Given the description of an element on the screen output the (x, y) to click on. 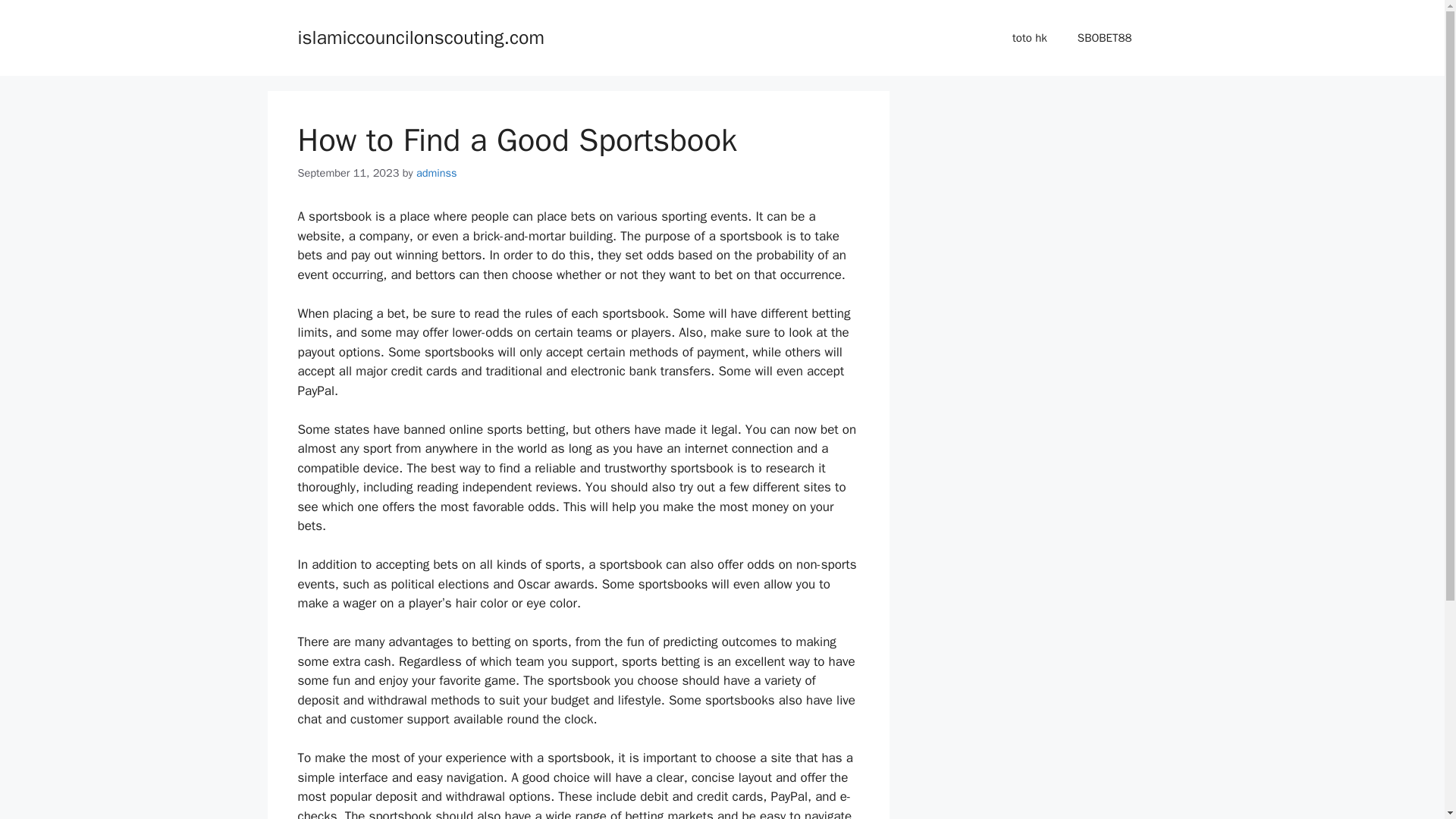
toto hk (1029, 37)
View all posts by adminss (436, 172)
SBOBET88 (1104, 37)
islamiccouncilonscouting.com (420, 37)
adminss (436, 172)
